Given the description of an element on the screen output the (x, y) to click on. 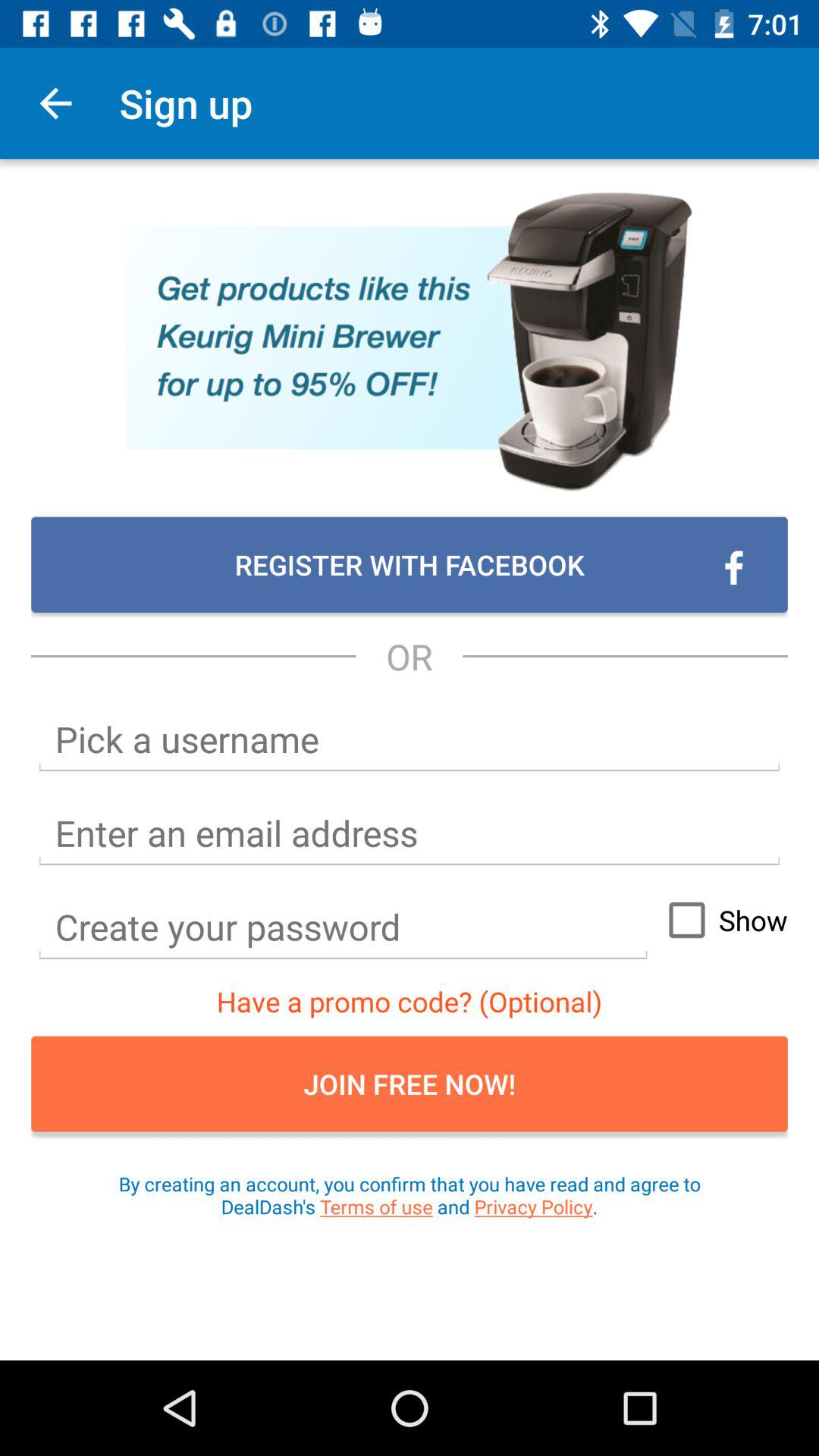
turn off app to the left of the sign up (55, 103)
